Given the description of an element on the screen output the (x, y) to click on. 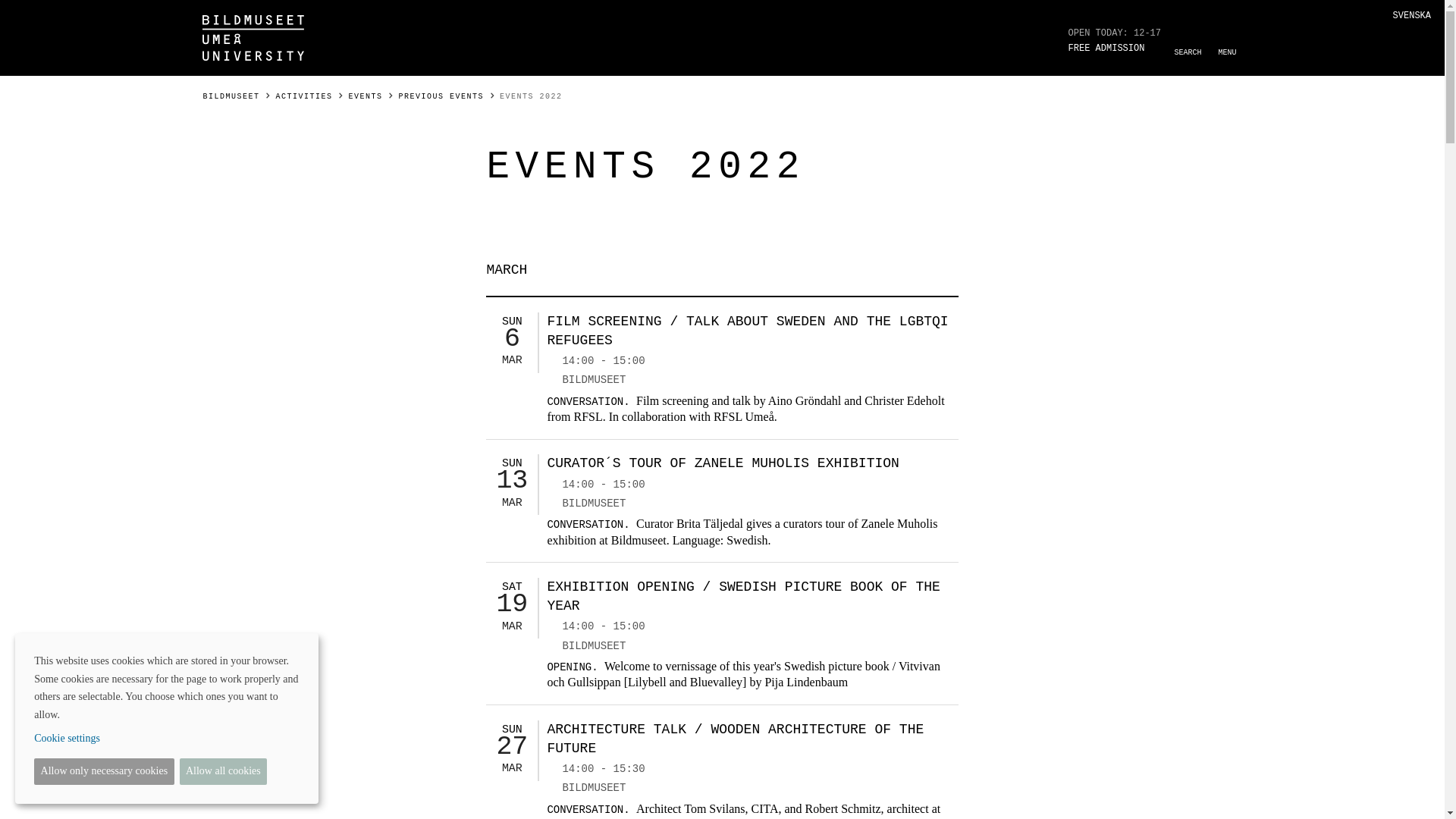
BILDMUSEET (230, 96)
ACTIVITIES (304, 96)
EVENTS (365, 96)
PREVIOUS EVENTS (441, 96)
SVENSKA (1412, 15)
